Given the description of an element on the screen output the (x, y) to click on. 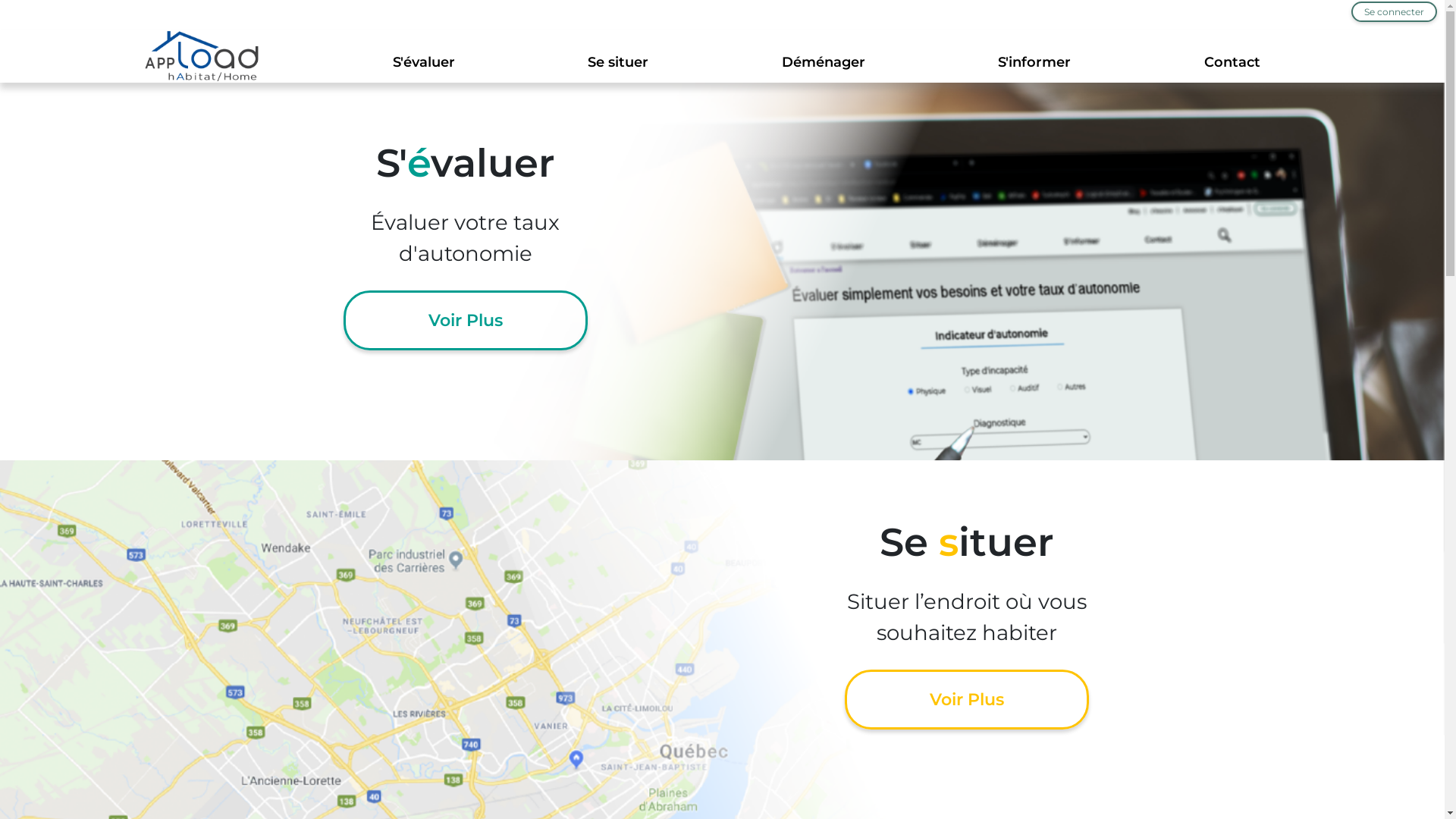
Contact Element type: text (1232, 62)
Se connecter Element type: text (1394, 11)
S'informer Element type: text (1033, 62)
Voir Plus Element type: text (966, 699)
Se situer Element type: text (617, 62)
Voir Plus Element type: text (464, 320)
